Given the description of an element on the screen output the (x, y) to click on. 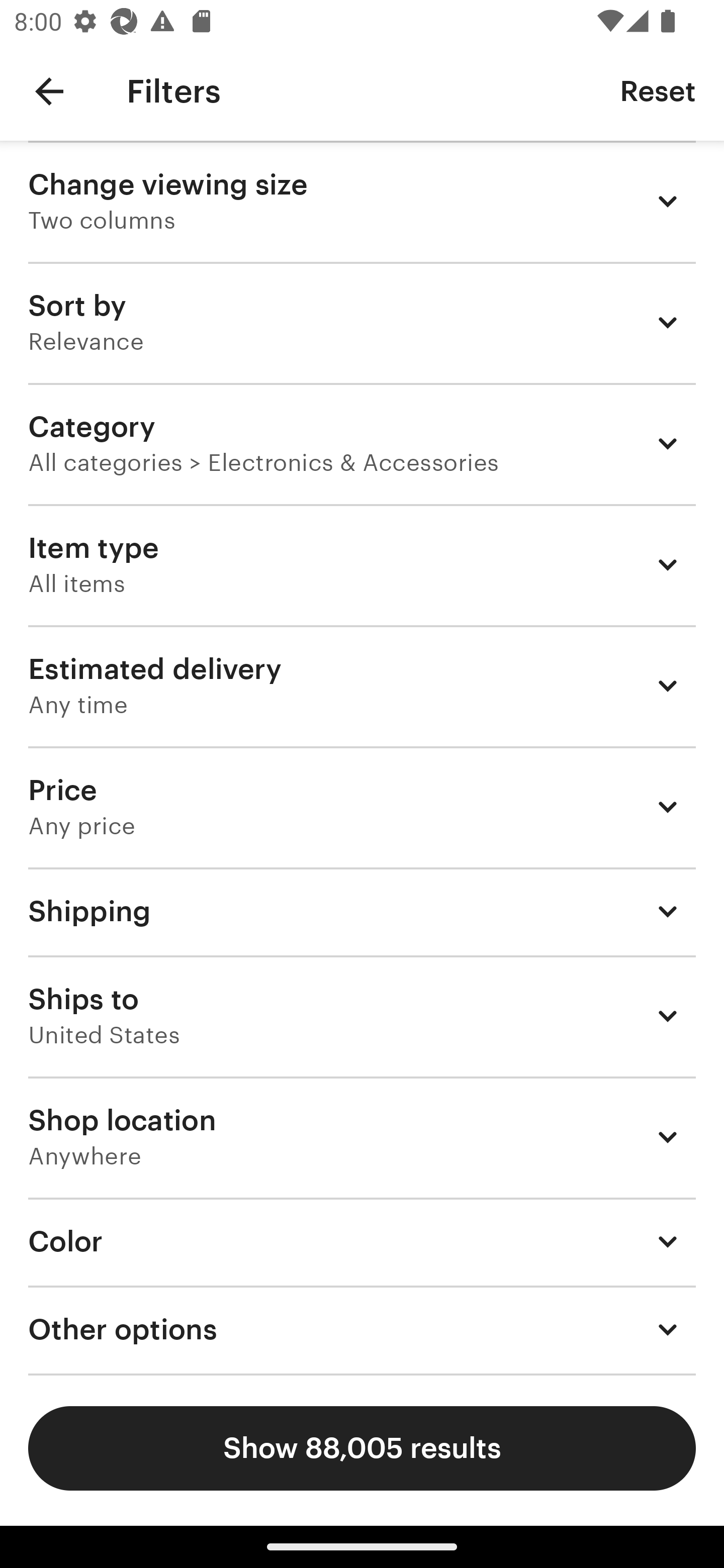
Navigate up (49, 91)
Reset (657, 90)
Change viewing size Two columns (362, 201)
Sort by Relevance (362, 321)
Item type All items (362, 564)
Estimated delivery Any time (362, 685)
Price Any price (362, 806)
Shipping (362, 910)
Ships to United States (362, 1015)
Shop location Anywhere (362, 1137)
Color (362, 1241)
Other options (362, 1329)
Show 88,005 results Show results (361, 1448)
